Given the description of an element on the screen output the (x, y) to click on. 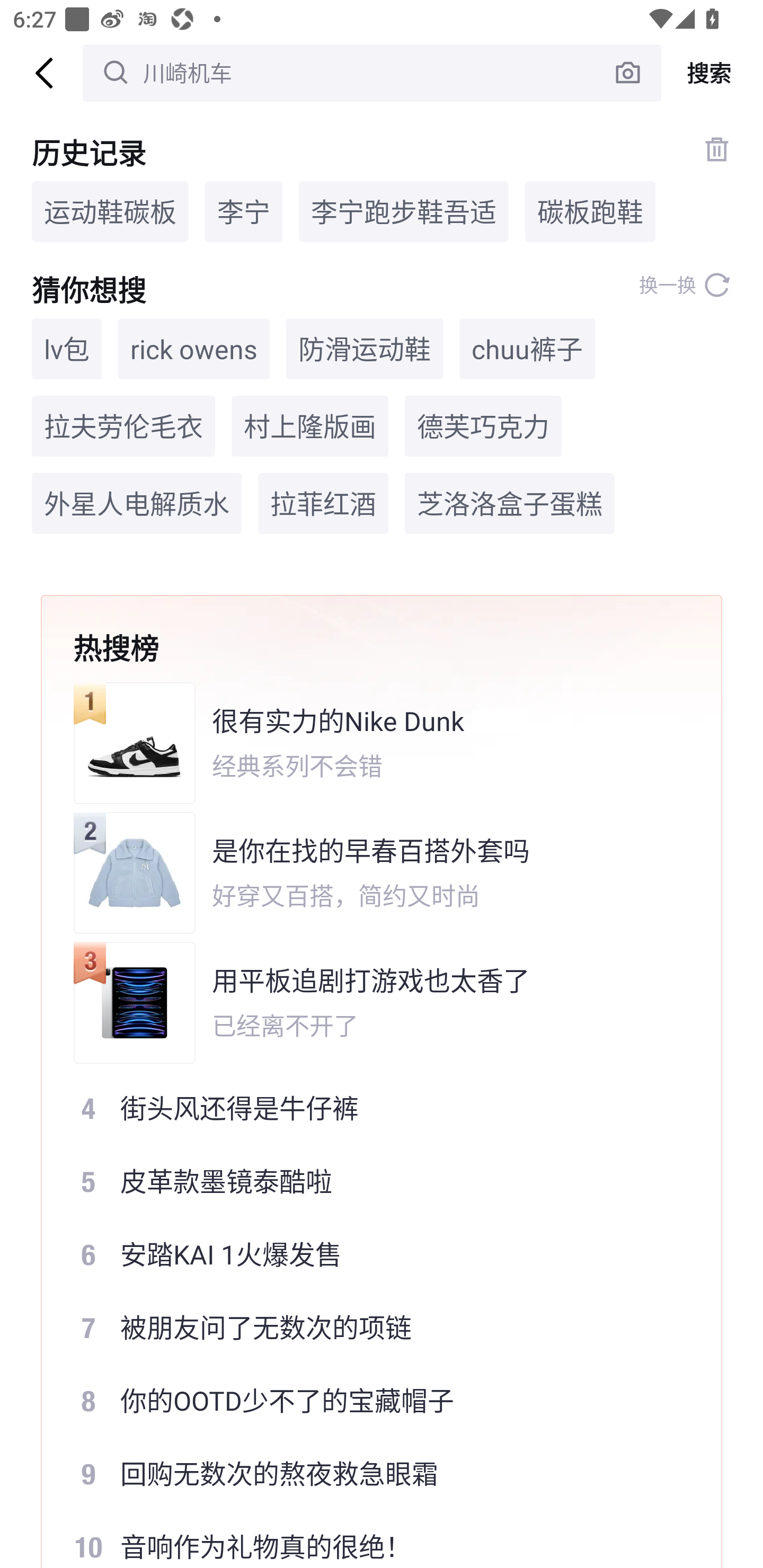
搜索 (712, 72)
川崎机车 (371, 72)
运动鞋碳板 (110, 211)
李宁 (243, 211)
李宁跑步鞋吾适 (403, 211)
碳板跑鞋 (589, 211)
换一换 (684, 285)
lv包 (66, 348)
rick owens (193, 348)
防滑运动鞋 (364, 348)
chuu裤子 (527, 348)
拉夫劳伦毛衣 (123, 425)
村上隆版画 (309, 425)
德芙巧克力 (483, 425)
外星人电解质水 (136, 503)
拉菲红酒 (322, 503)
芝洛洛盒子蛋糕 (509, 503)
很有实力的Nike Dunk 经典系列不会错 (369, 743)
是你在找的早春百搭外套吗 好穿又百搭，简约又时尚 (369, 873)
用平板追剧打游戏也太香了 已经离不开了 (369, 1002)
4 街头风还得是牛仔裤 (369, 1107)
5 皮革款墨镜泰酷啦 (369, 1181)
6 安踏KAI 1火爆发售 (369, 1254)
7 被朋友问了无数次的项链 (369, 1327)
8 你的OOTD少不了的宝藏帽子 (369, 1400)
9 回购无数次的熬夜救急眼霜 (369, 1473)
10 音响作为礼物真的很绝！ (369, 1538)
